Given the description of an element on the screen output the (x, y) to click on. 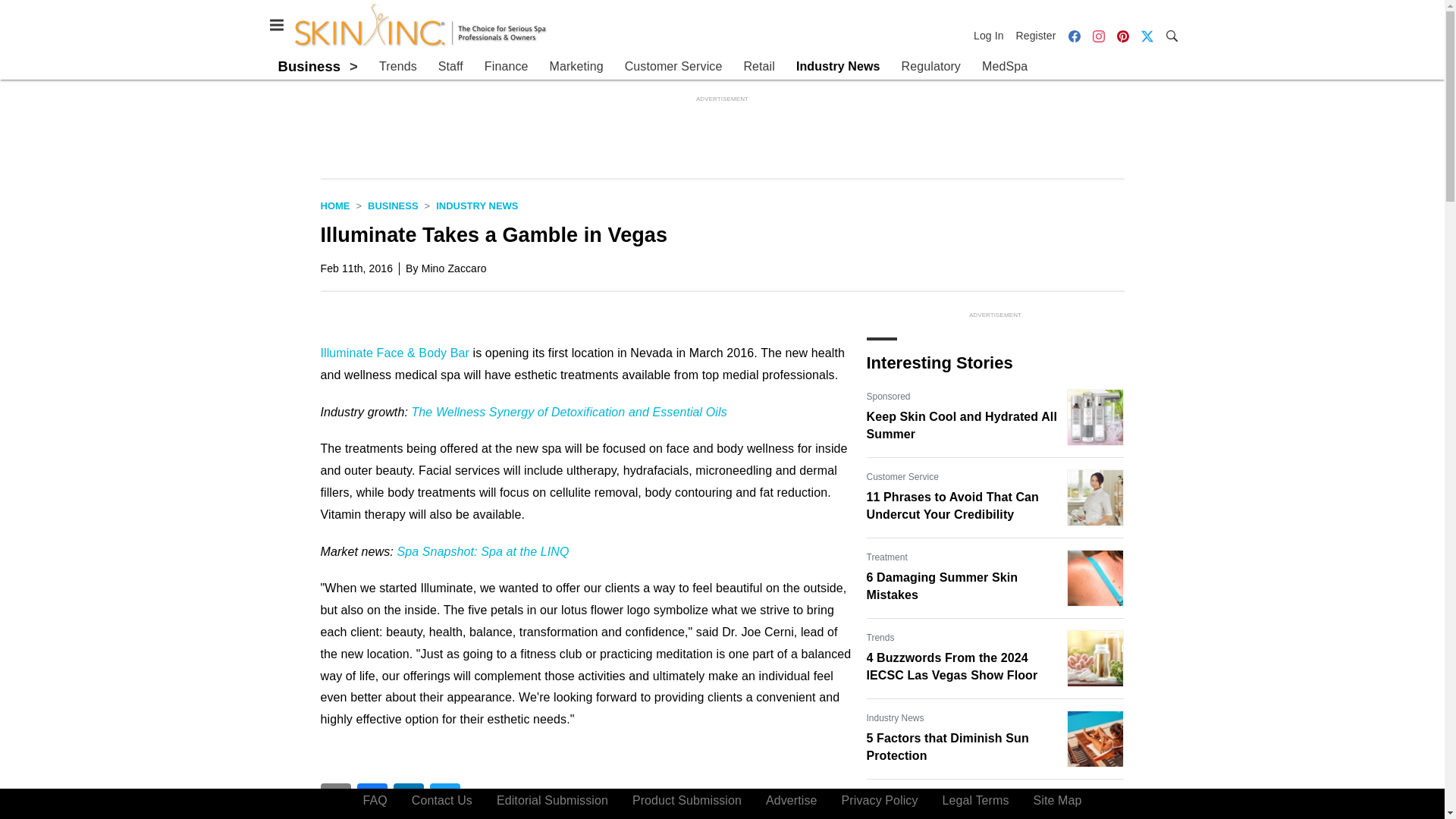
Retail (758, 66)
Twitter X icon (1146, 36)
Business (309, 65)
Facebook icon (1073, 35)
Industry News (838, 66)
Share To twitter (444, 798)
Home (334, 205)
Pinterest icon (1121, 35)
Log In (992, 35)
Industry News (476, 205)
Register (1036, 35)
Business (392, 205)
Staff (450, 66)
Sponsored (888, 396)
Pinterest icon (1122, 36)
